Given the description of an element on the screen output the (x, y) to click on. 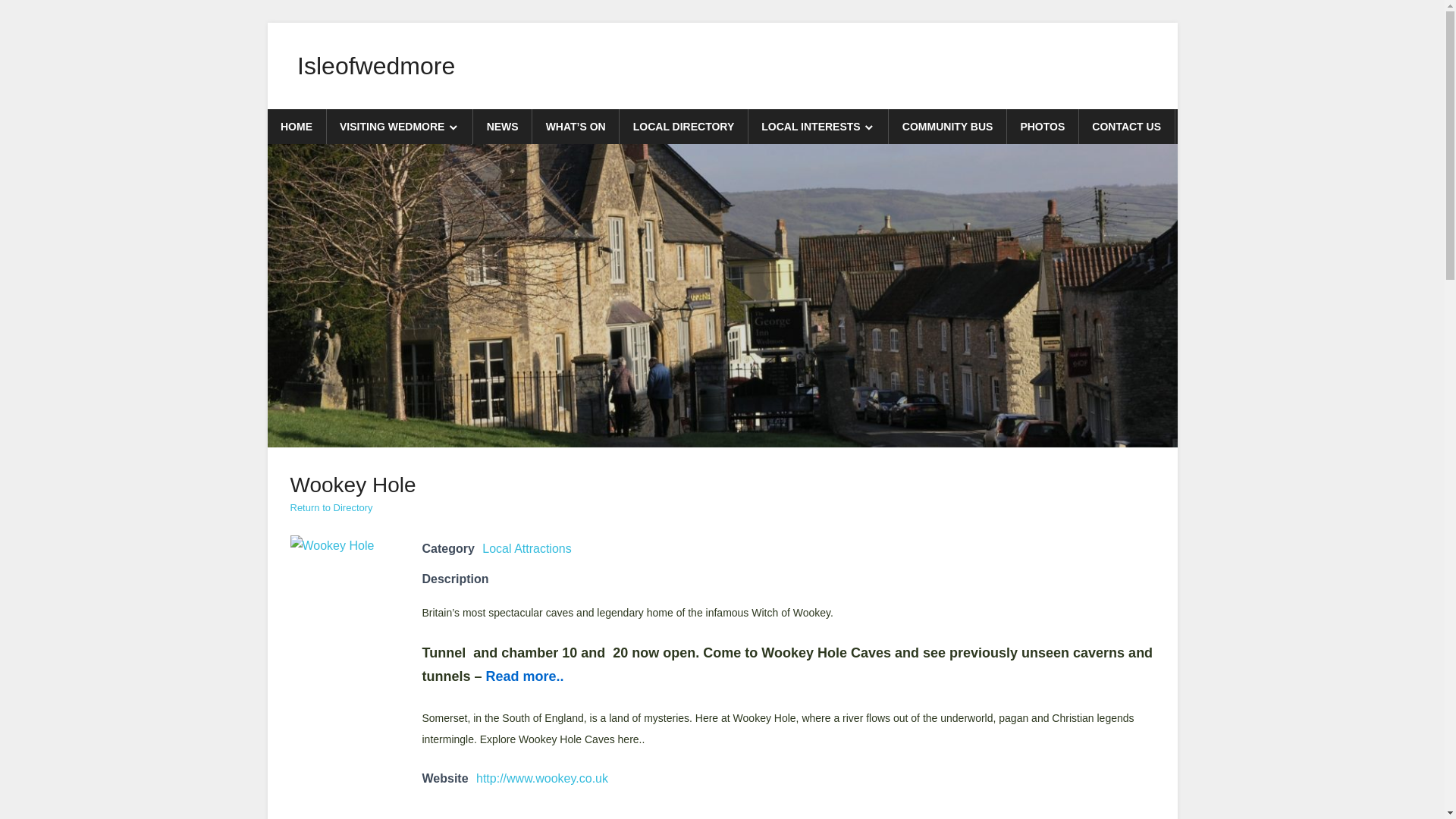
CONTACT US (1126, 126)
HOME (296, 126)
Isleofwedmore (375, 65)
COMMUNITY BUS (947, 126)
Return to Directory (330, 507)
LOCAL INTERESTS (818, 126)
NEWS (502, 126)
VISITING WEDMORE (399, 126)
Wookey Hole (331, 545)
